Given the description of an element on the screen output the (x, y) to click on. 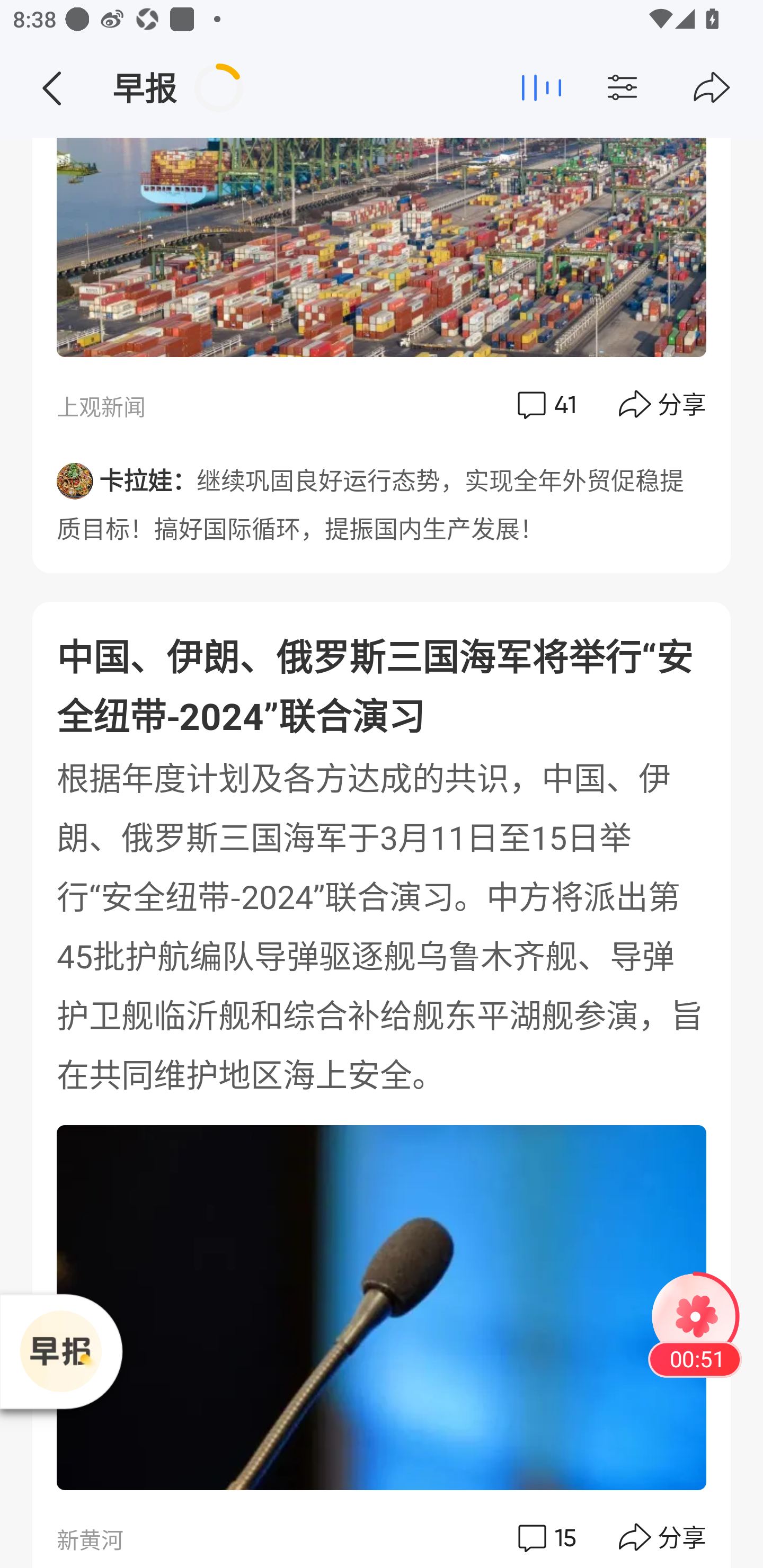
 (50, 87)
 (656, 87)
 (711, 87)
评论  41 (544, 404)
 分享 (663, 404)
  卡拉娃：继续巩固良好运行态势，实现全年外贸促稳提质目标！搞好国际循环，提振国内生产发展！ (381, 498)
播放器 (60, 1351)
评论  15 (544, 1534)
 分享 (663, 1534)
